Given the description of an element on the screen output the (x, y) to click on. 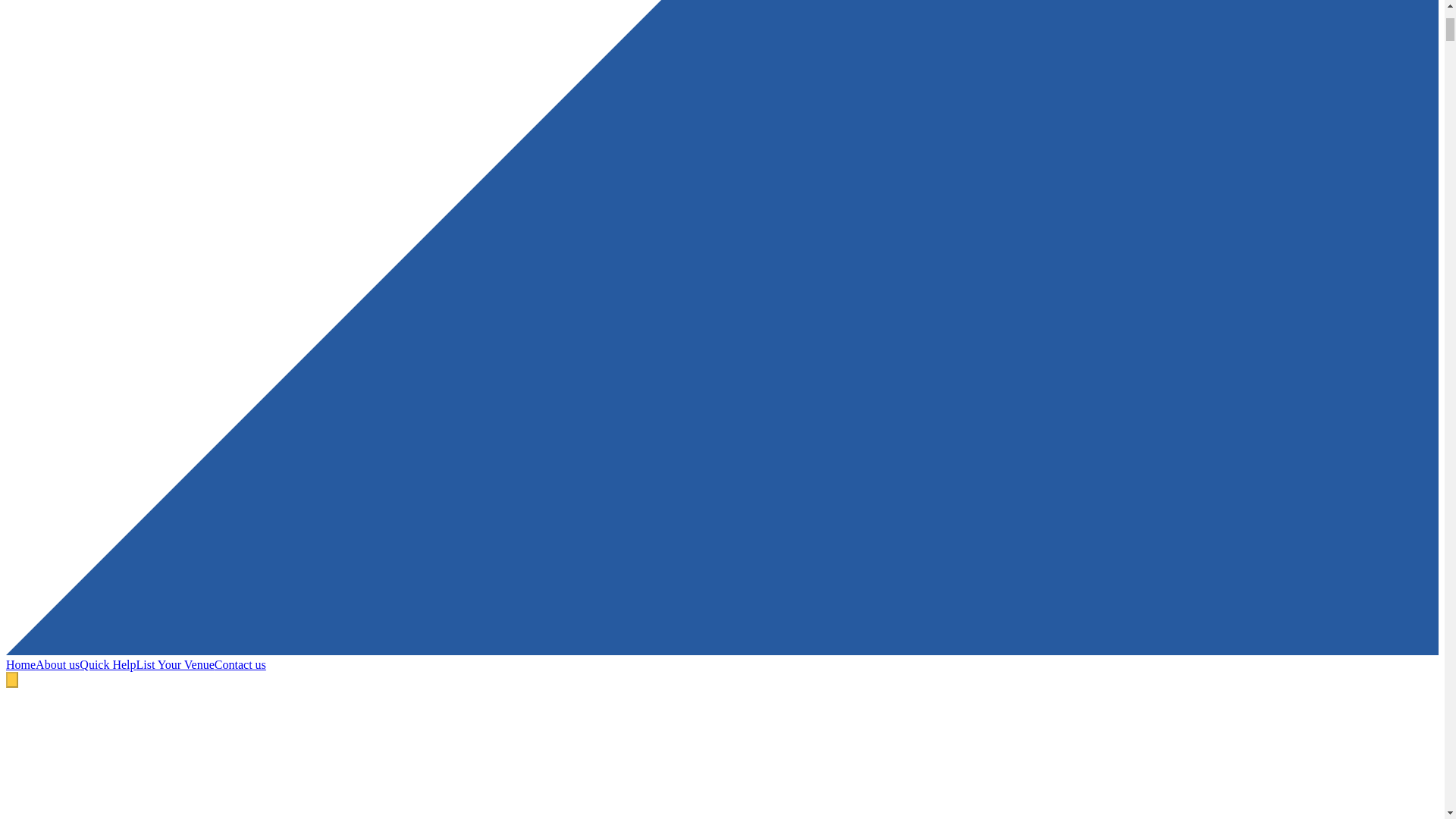
Home (19, 664)
List Your Venue (175, 664)
Home (19, 664)
Contact us (240, 664)
Quick Help (107, 664)
About us (57, 664)
Quick Help (107, 664)
Contact us (240, 664)
About us (57, 664)
List Your Venue (175, 664)
